Given the description of an element on the screen output the (x, y) to click on. 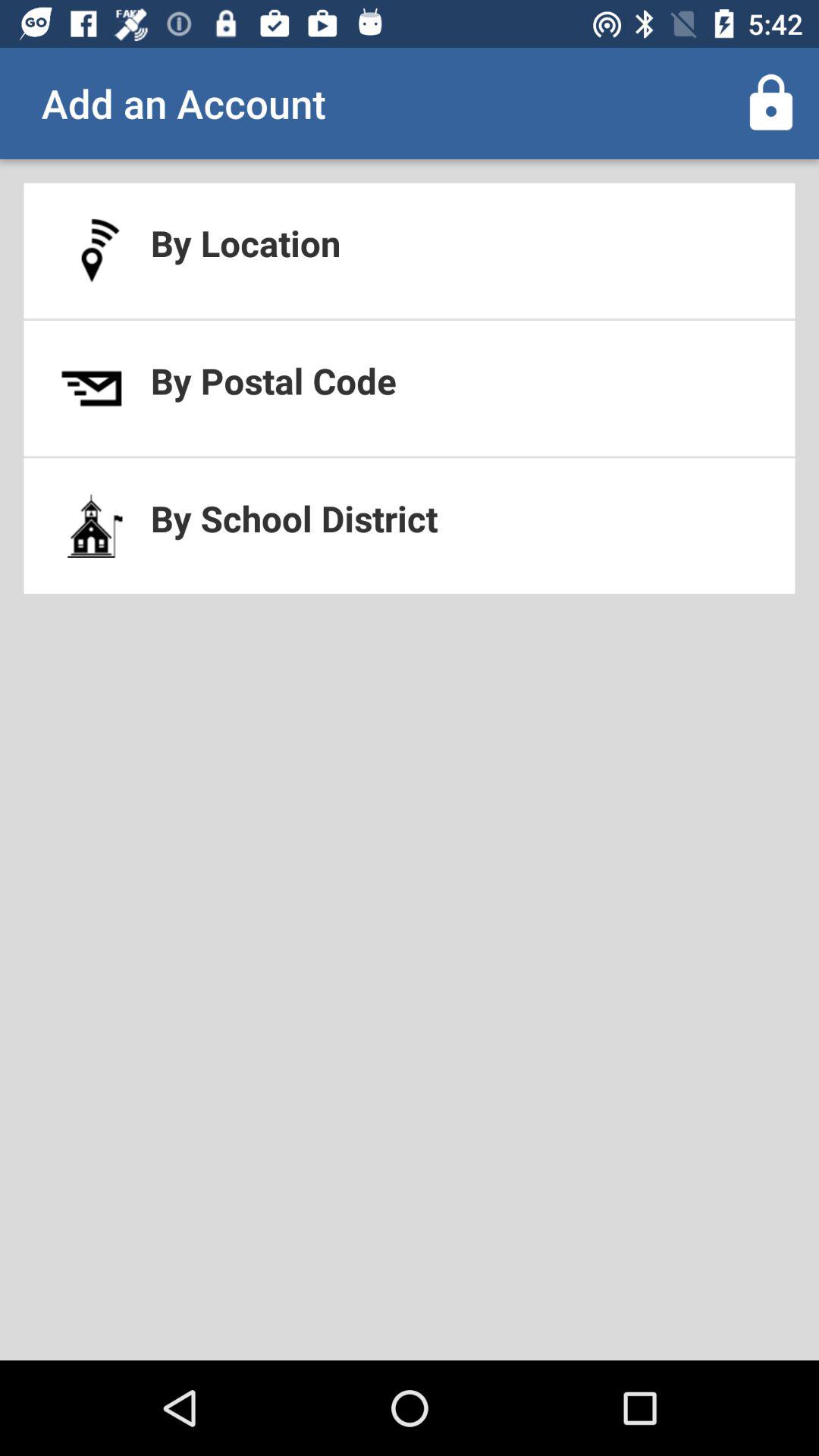
launch the    by postal code item (409, 388)
